Given the description of an element on the screen output the (x, y) to click on. 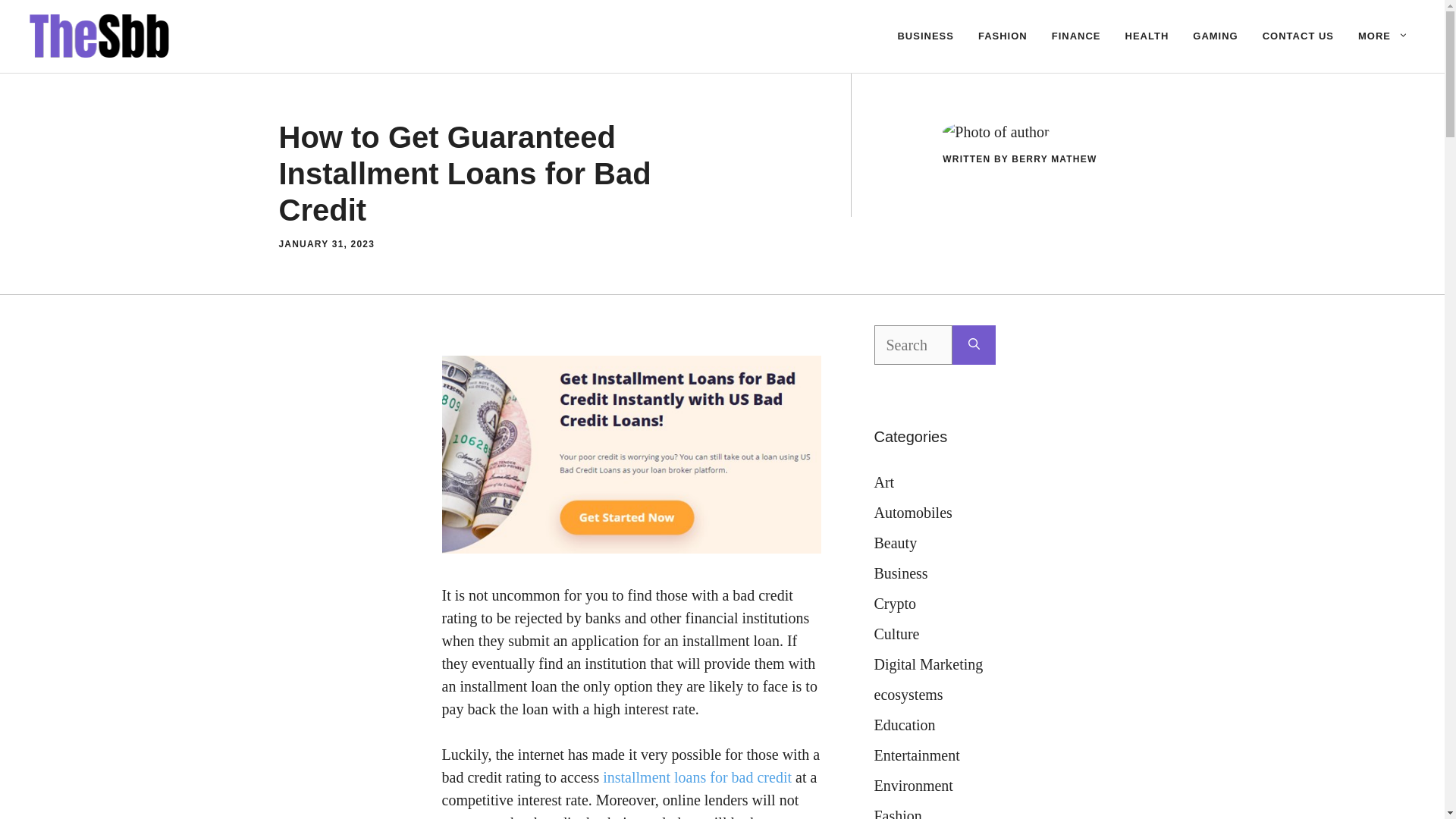
FINANCE (1076, 35)
MORE (1383, 35)
Search for: (912, 344)
CONTACT US (1297, 35)
GAMING (1214, 35)
HEALTH (1146, 35)
FASHION (1002, 35)
installment loans for bad credit (697, 777)
BUSINESS (925, 35)
